Given the description of an element on the screen output the (x, y) to click on. 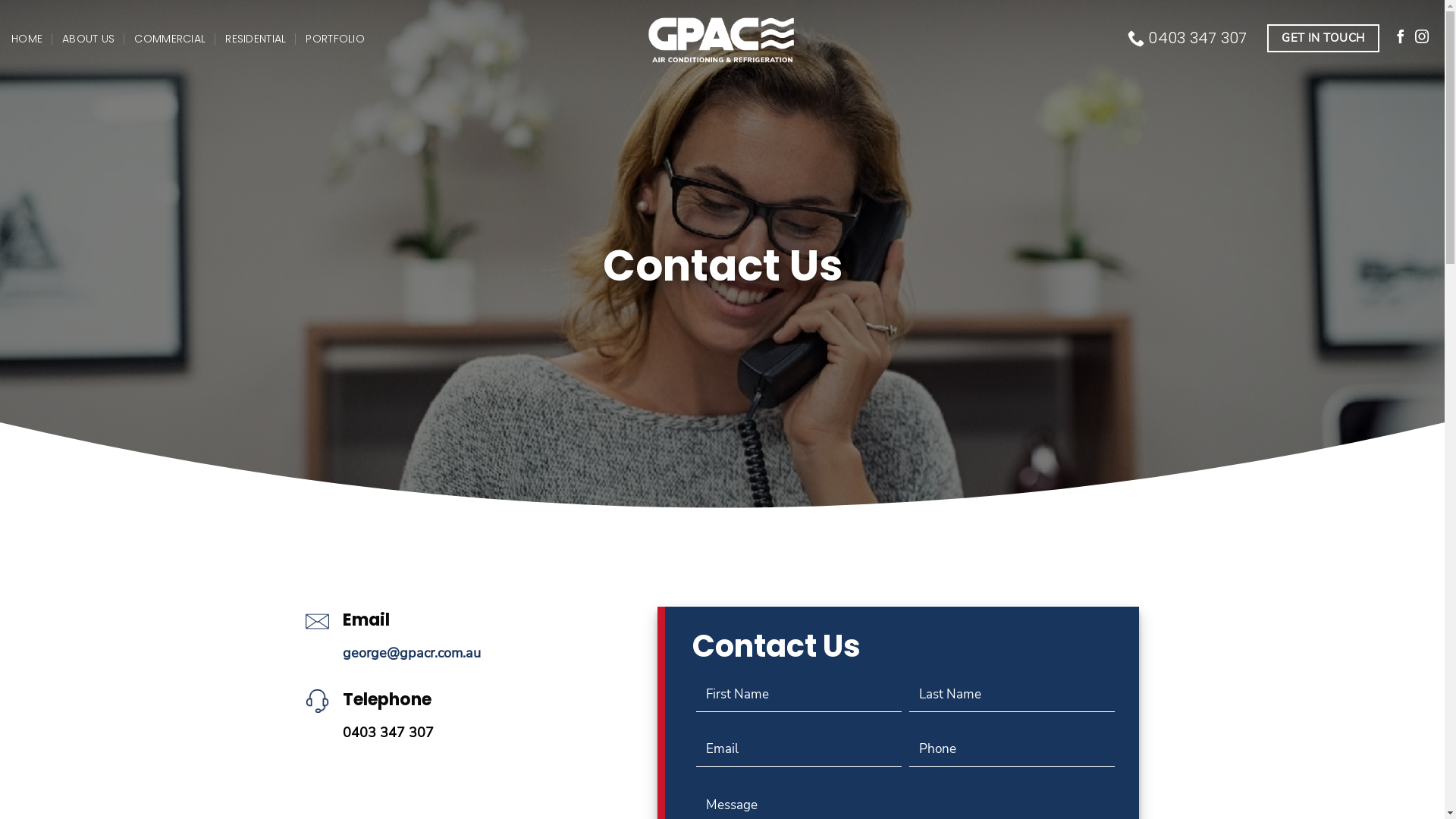
COMMERCIAL Element type: text (169, 37)
HOME Element type: text (26, 37)
0403 347 307 Element type: text (1187, 37)
RESIDENTIAL Element type: text (255, 37)
GET IN TOUCH Element type: text (1323, 38)
ABOUT US Element type: text (88, 37)
george@gpacr.com.au Element type: text (411, 652)
PORTFOLIO Element type: text (334, 37)
0403 347 307 Element type: text (387, 732)
